Given the description of an element on the screen output the (x, y) to click on. 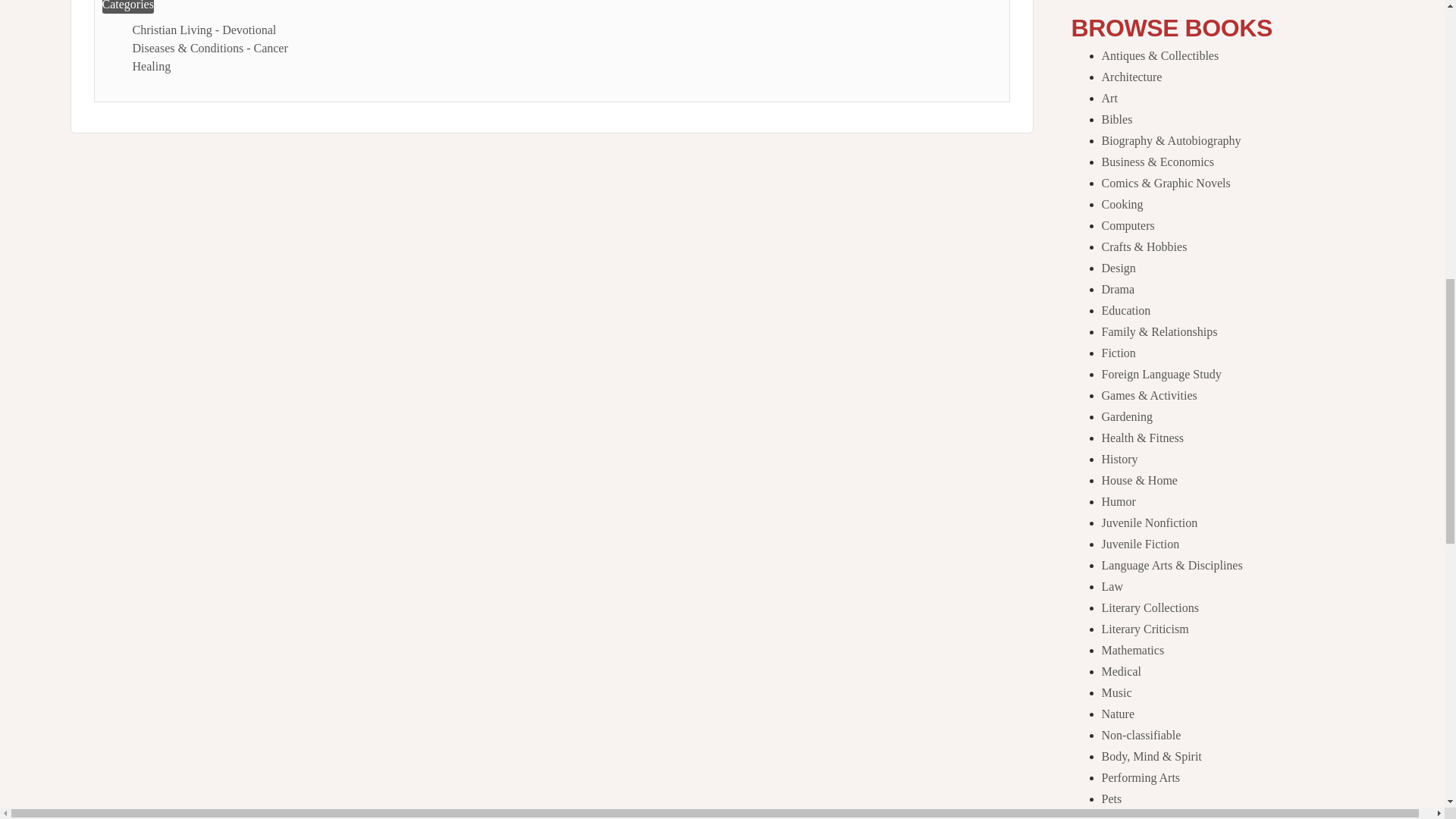
Art (1108, 97)
Bibles (1116, 119)
Architecture (1130, 76)
Christian Living - Devotional (204, 29)
Design (1117, 267)
Education (1125, 309)
Fiction (1117, 352)
Cooking (1121, 204)
Healing (151, 65)
Computers (1127, 225)
